Given the description of an element on the screen output the (x, y) to click on. 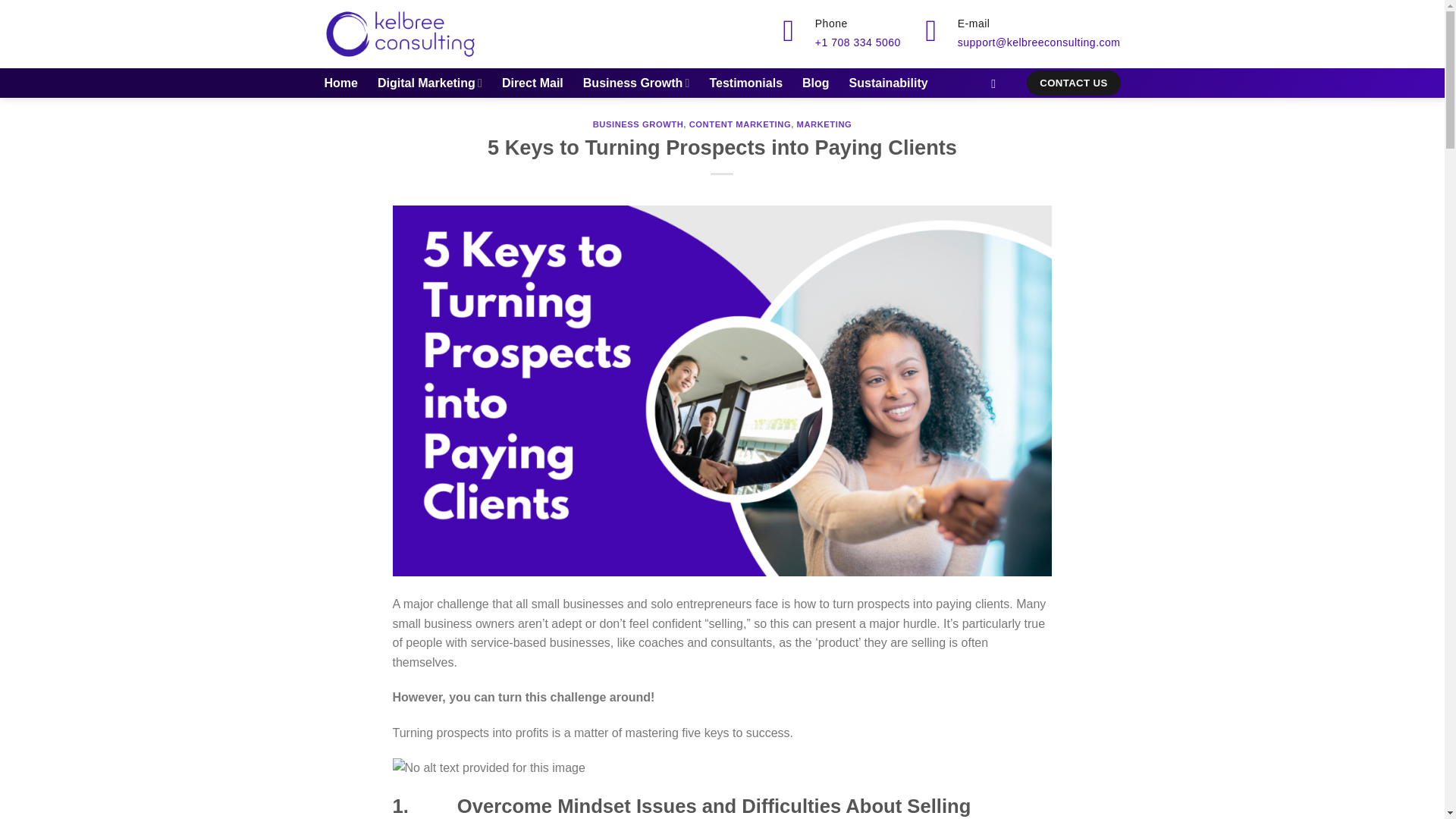
Testimonials (746, 83)
Direct Mail (532, 83)
Home (341, 83)
BUSINESS GROWTH (638, 123)
Digital Marketing (429, 82)
Sustainability (888, 83)
Business Growth (636, 82)
CONTENT MARKETING (739, 123)
E-mail (974, 22)
Phone (831, 22)
Blog (815, 83)
Business and Management Coaching and Consulting (400, 33)
CONTACT US (1072, 83)
MARKETING (823, 123)
